Given the description of an element on the screen output the (x, y) to click on. 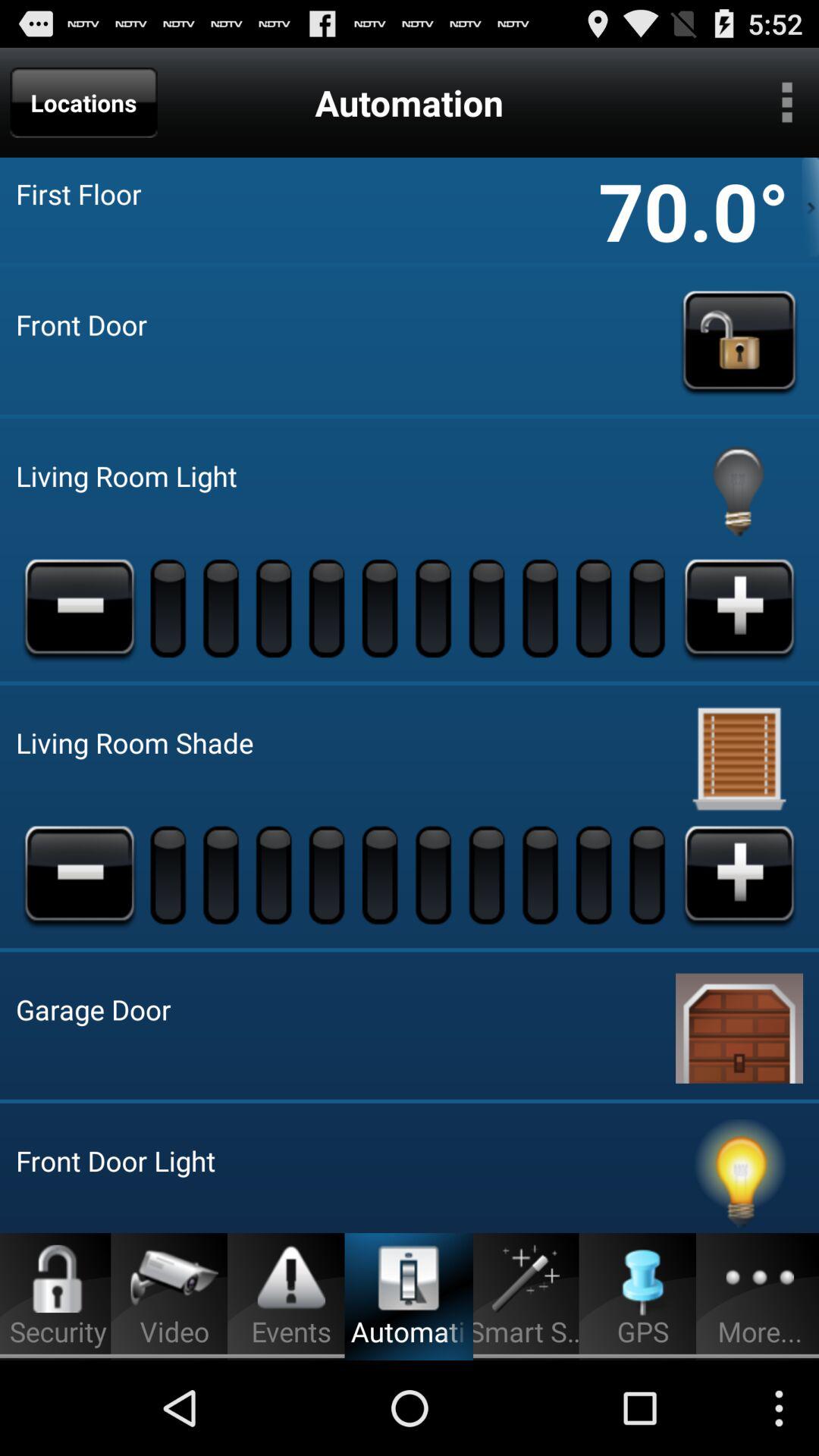
click on the icon which is next to front door light (739, 1176)
click on second button on living room shade (169, 873)
select the 2nd addition symbol from the top (739, 873)
click on the sixth bar which is below living room shade (434, 873)
click on the second point option in the living room light field (222, 607)
click the option beside the plus sign in living room shade field (648, 873)
